Given the description of an element on the screen output the (x, y) to click on. 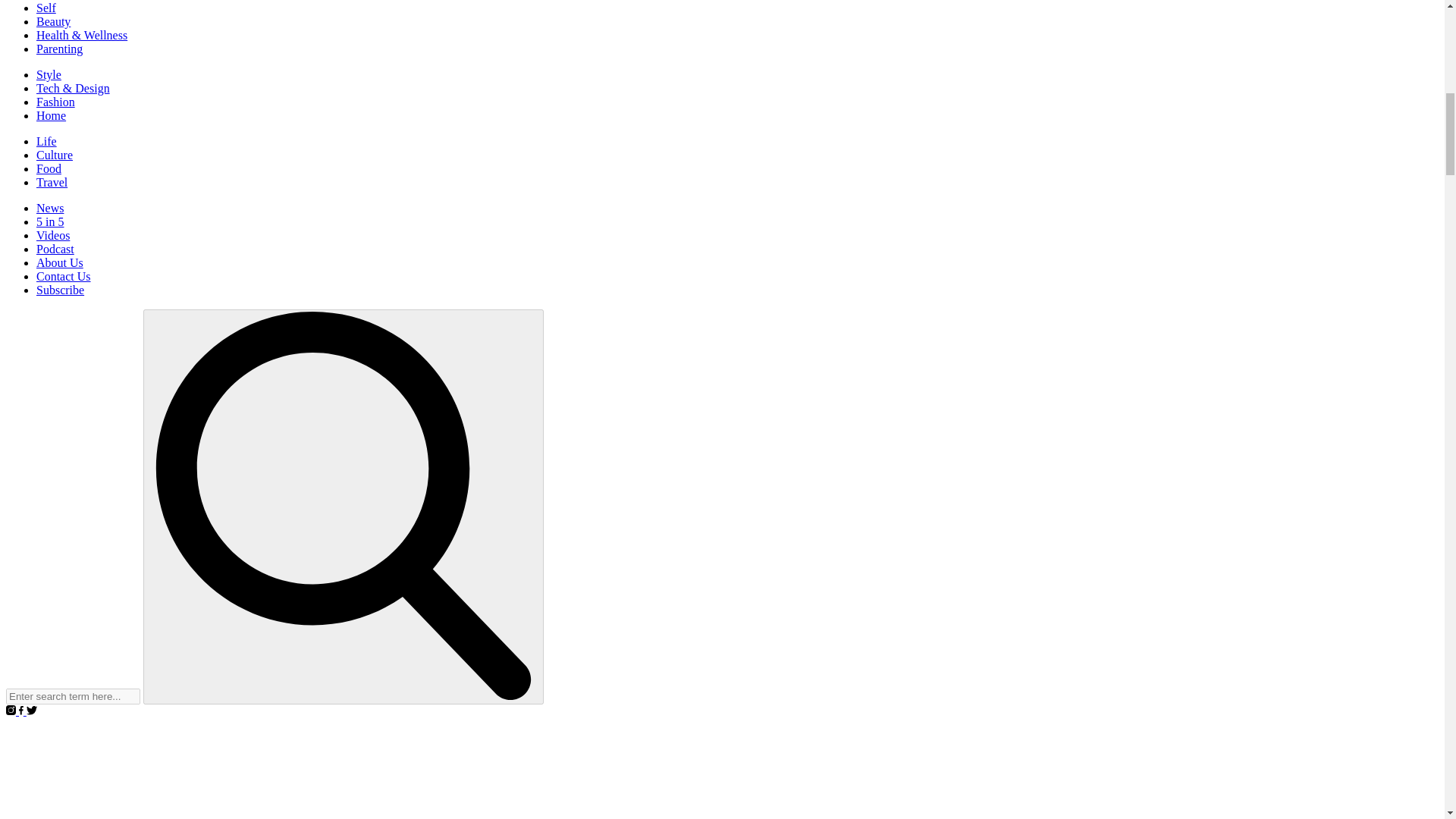
Parenting (59, 48)
Travel (51, 182)
Videos (52, 235)
Fashion (55, 101)
Beauty (52, 21)
Contact Us (63, 276)
Home (50, 115)
Life (46, 141)
Self (46, 7)
About Us (59, 262)
Culture (54, 154)
Subscribe (60, 289)
Style (48, 74)
5 in 5 (50, 221)
Podcast (55, 248)
